Given the description of an element on the screen output the (x, y) to click on. 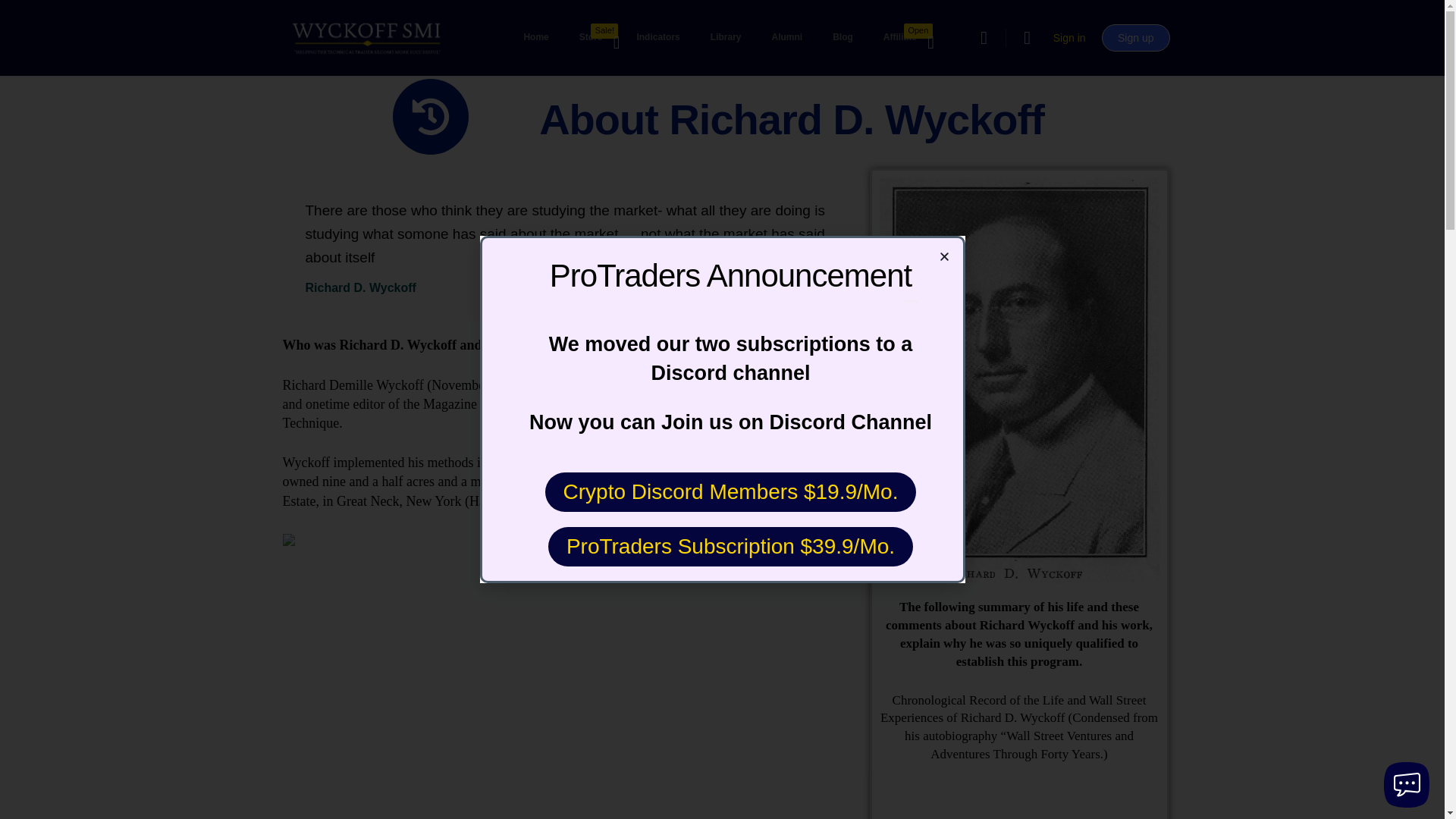
Sign up (592, 37)
Sign in (1135, 37)
Library (1068, 37)
Alumni (726, 37)
Indicators (785, 37)
Home (657, 37)
Blog (535, 37)
